Given the description of an element on the screen output the (x, y) to click on. 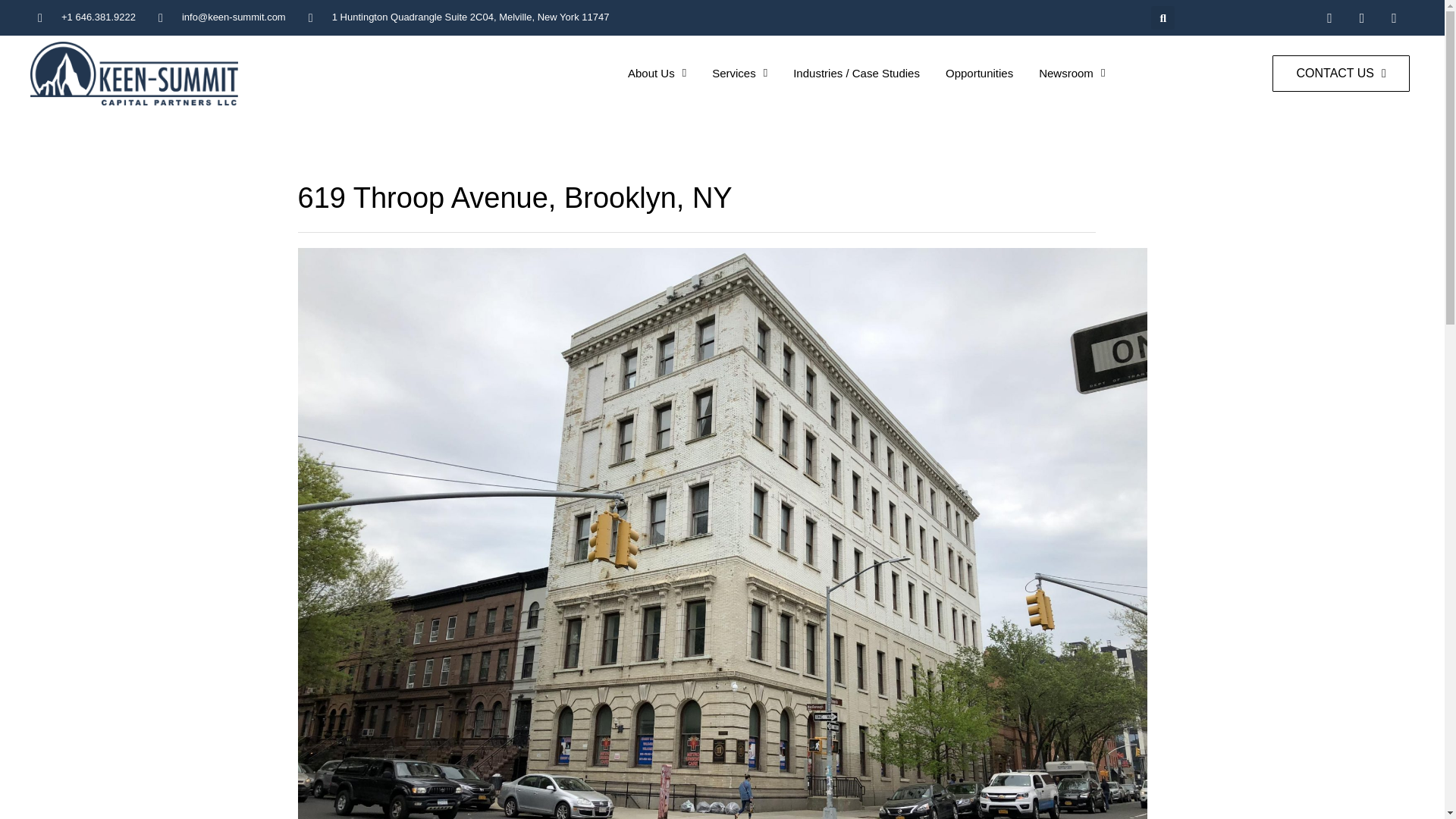
Opportunities (978, 48)
Services (739, 30)
About Us (656, 13)
Newsroom (1072, 52)
